Given the description of an element on the screen output the (x, y) to click on. 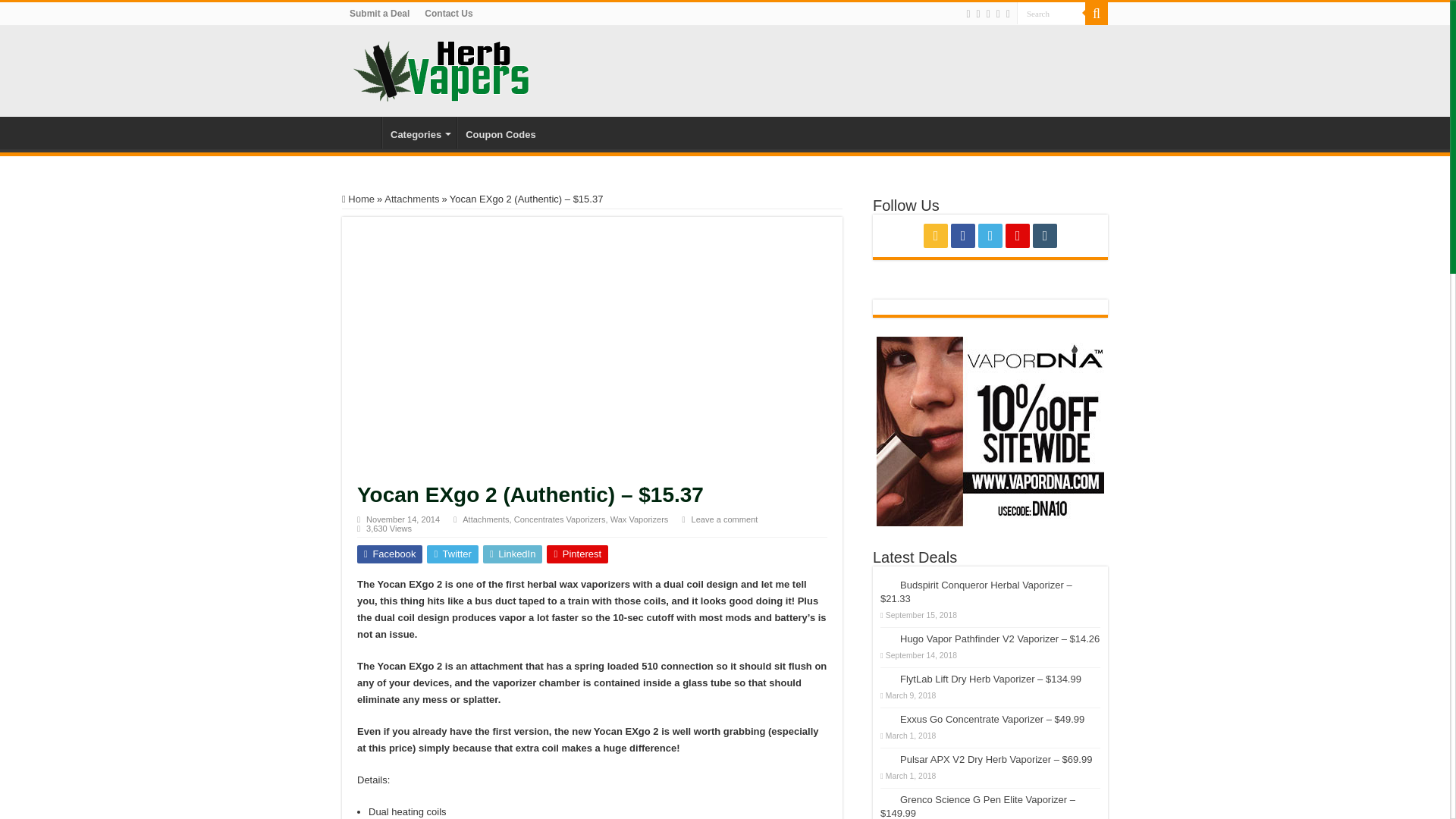
Search (1050, 13)
Submit a Deal (379, 13)
LinkedIn (513, 554)
Search (1050, 13)
Home (358, 198)
Search (1096, 13)
Contact HerbVapers (448, 13)
Submit an Herbal Vaporizer Deal! (379, 13)
Home (361, 132)
Categories (419, 132)
